Given the description of an element on the screen output the (x, y) to click on. 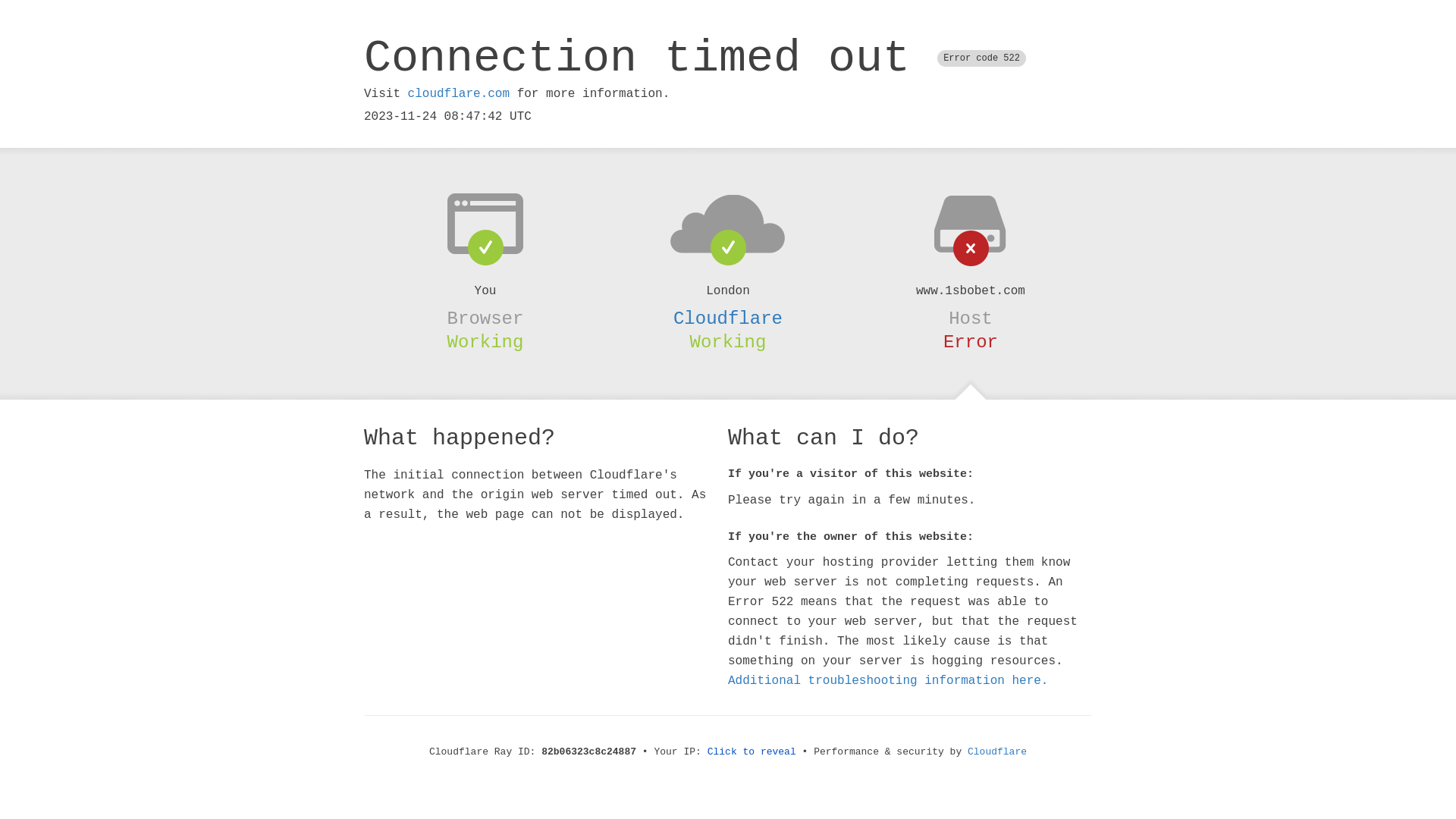
Additional troubleshooting information here. Element type: text (888, 680)
Cloudflare Element type: text (727, 318)
Click to reveal Element type: text (751, 751)
Cloudflare Element type: text (996, 751)
cloudflare.com Element type: text (458, 93)
